Given the description of an element on the screen output the (x, y) to click on. 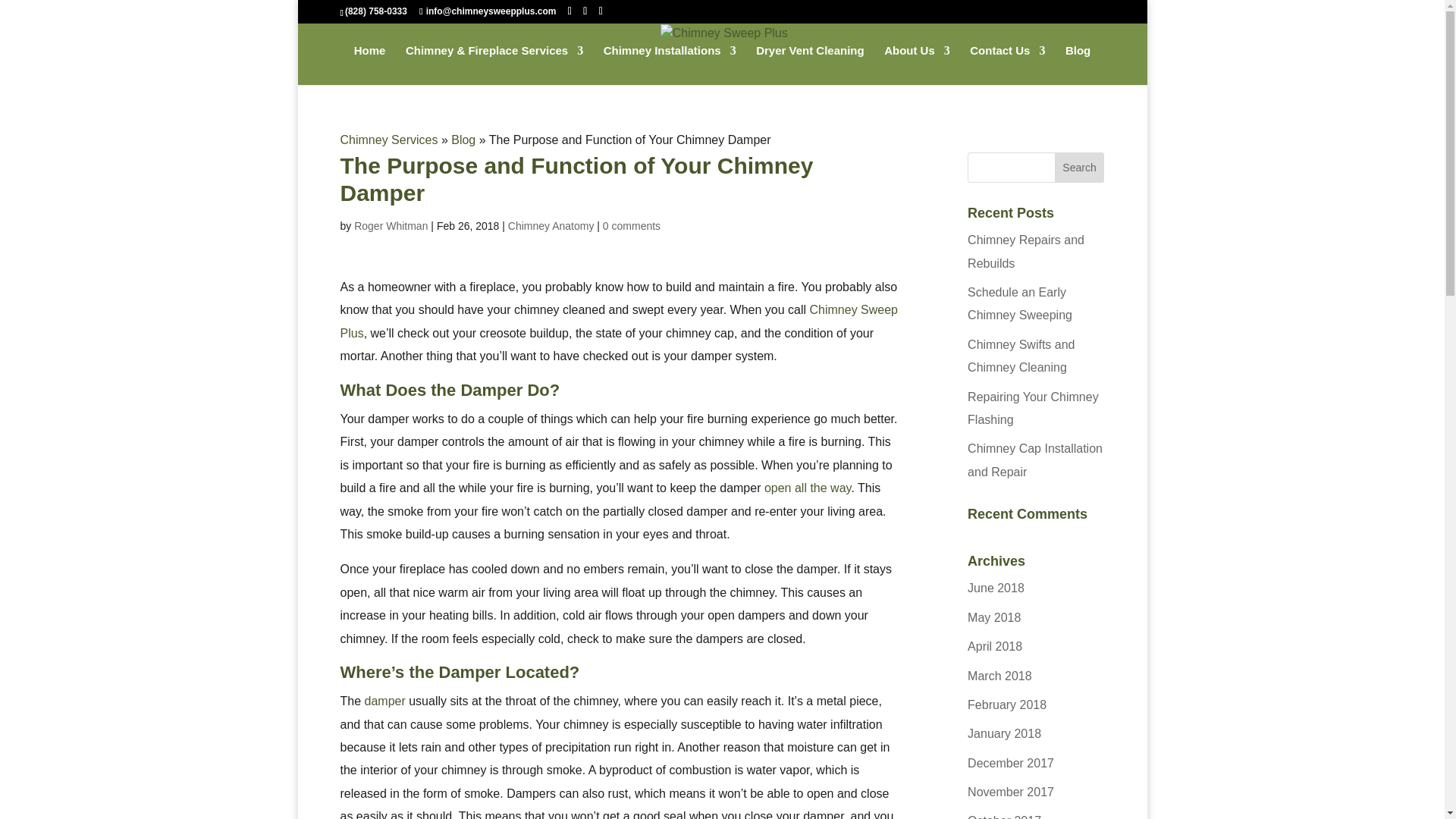
Search (1079, 167)
Chimney Installations (670, 65)
Posts by Roger Whitman (390, 225)
Dryer Vent Cleaning (809, 65)
About Us (916, 65)
